Given the description of an element on the screen output the (x, y) to click on. 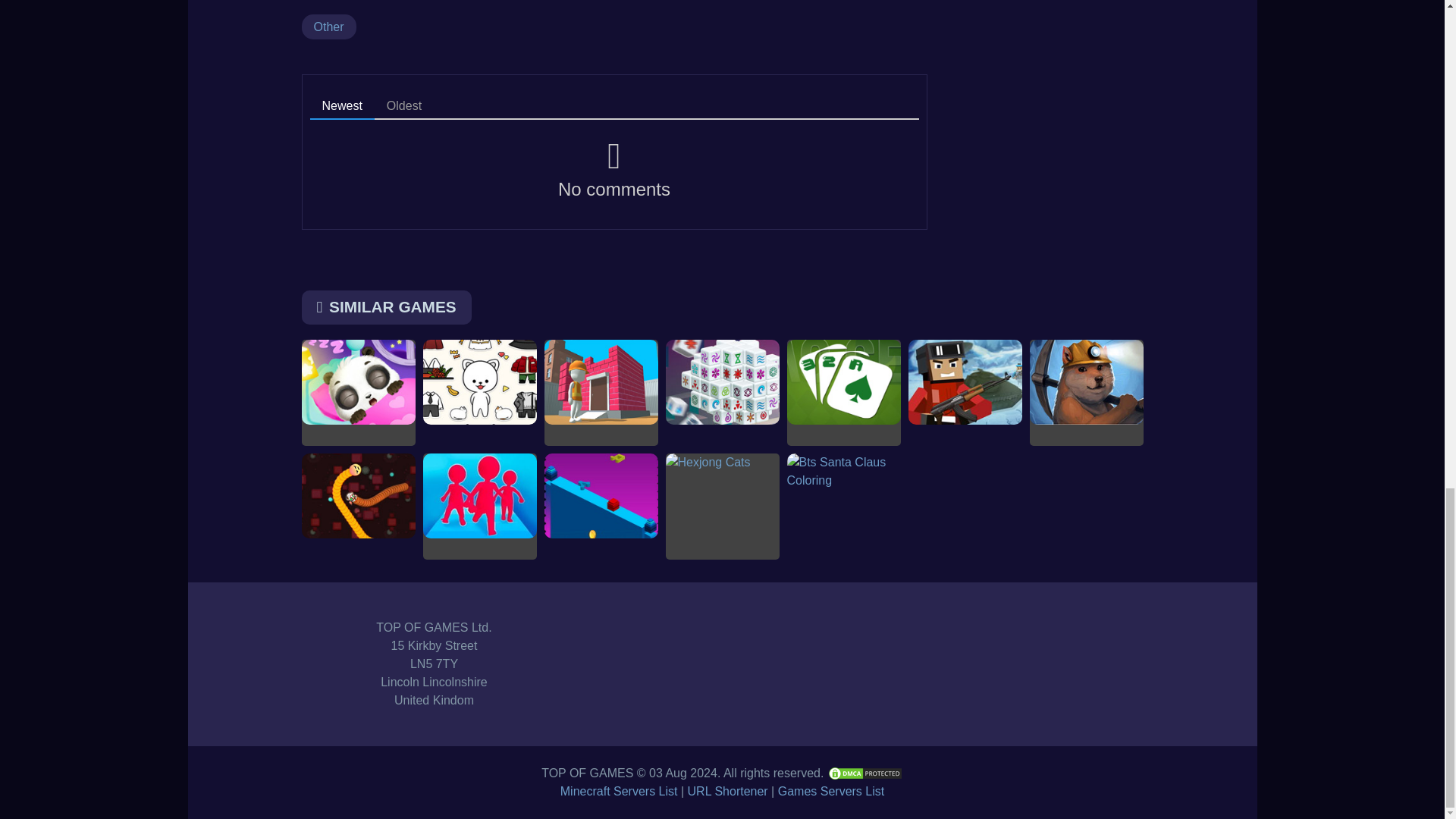
Games Servers List (830, 790)
Free URL Shortener (727, 790)
DMCA.com Protection Status (864, 772)
Free Minecraft Servers List (619, 790)
